Given the description of an element on the screen output the (x, y) to click on. 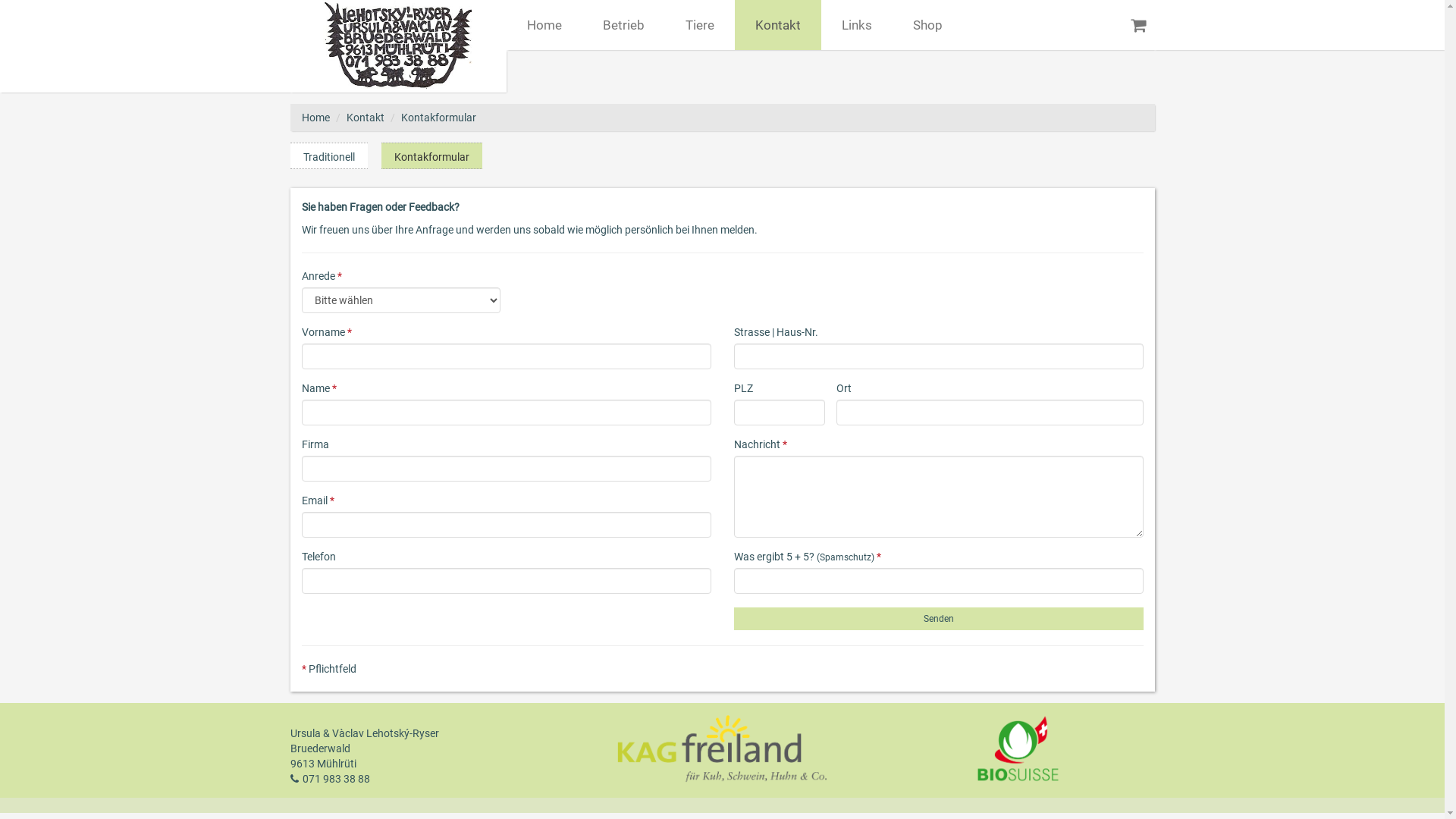
Senden Element type: text (938, 618)
Kontakt Element type: text (364, 117)
Home Element type: text (544, 25)
Kontakt Element type: text (777, 25)
Shop Element type: text (926, 25)
Betrieb Element type: text (623, 25)
Traditionell Element type: text (328, 155)
Kontakformular Element type: text (430, 155)
Links Element type: text (855, 25)
Tiere Element type: text (699, 25)
Kontakformular Element type: text (437, 117)
Home Element type: text (315, 117)
